Given the description of an element on the screen output the (x, y) to click on. 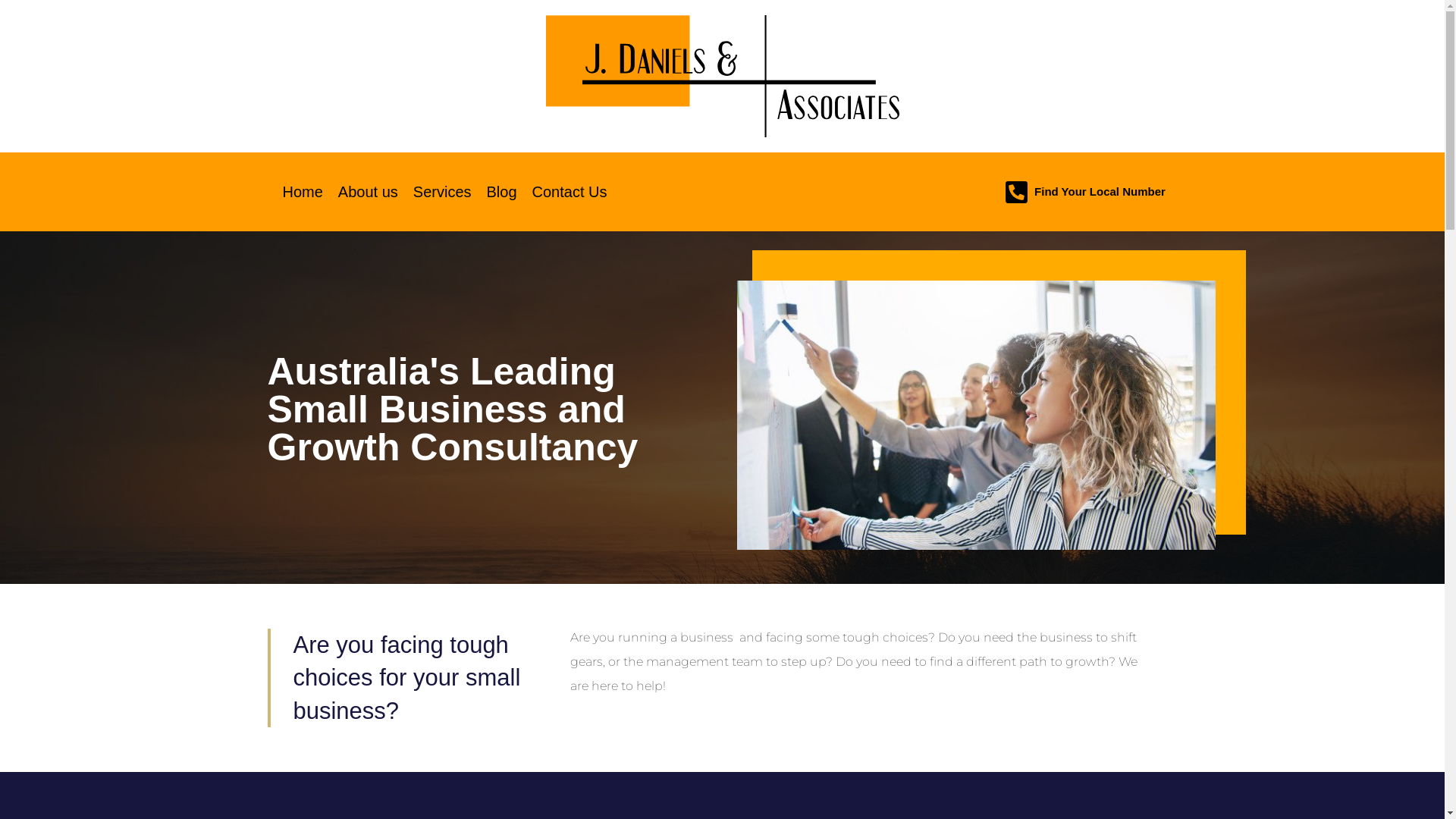
About us Element type: text (367, 191)
Find Your Local Number Element type: text (1099, 191)
Home Element type: text (301, 191)
Services Element type: text (442, 191)
Contact Us Element type: text (569, 191)
Blog Element type: text (501, 191)
